Given the description of an element on the screen output the (x, y) to click on. 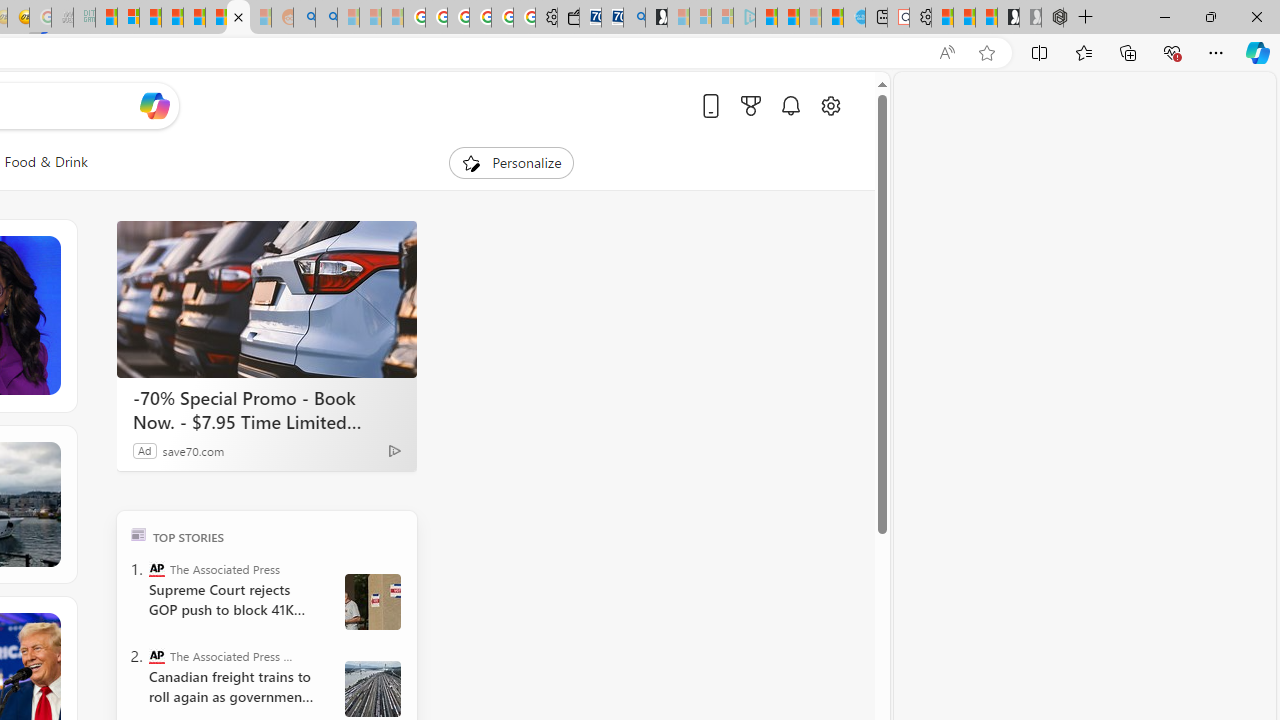
Bing Real Estate - Home sales and rental listings (634, 17)
TOP (138, 534)
Wallet (568, 17)
The Associated Press (156, 568)
